Given the description of an element on the screen output the (x, y) to click on. 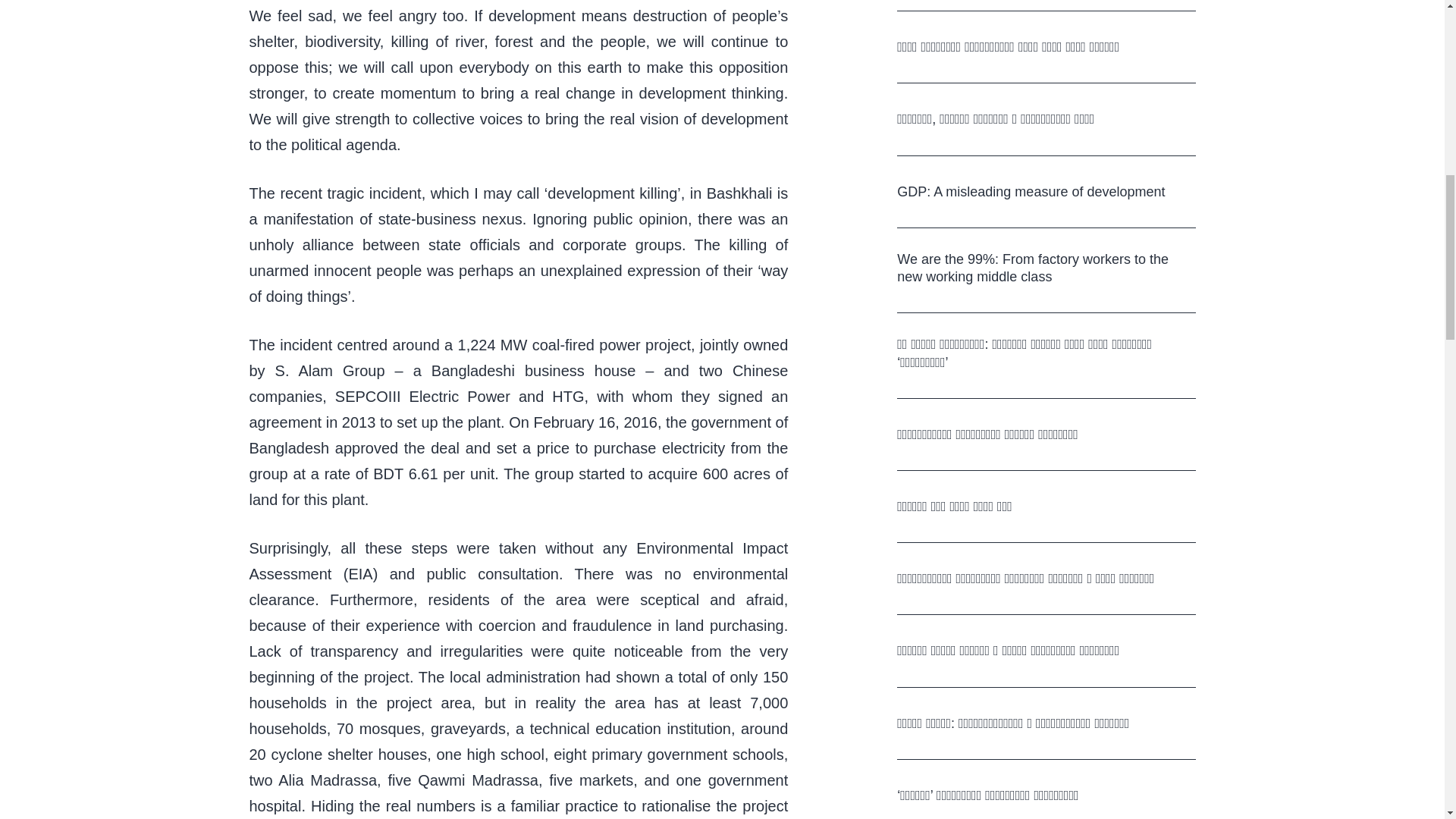
GDP: A misleading measure of development (1030, 191)
